Given the description of an element on the screen output the (x, y) to click on. 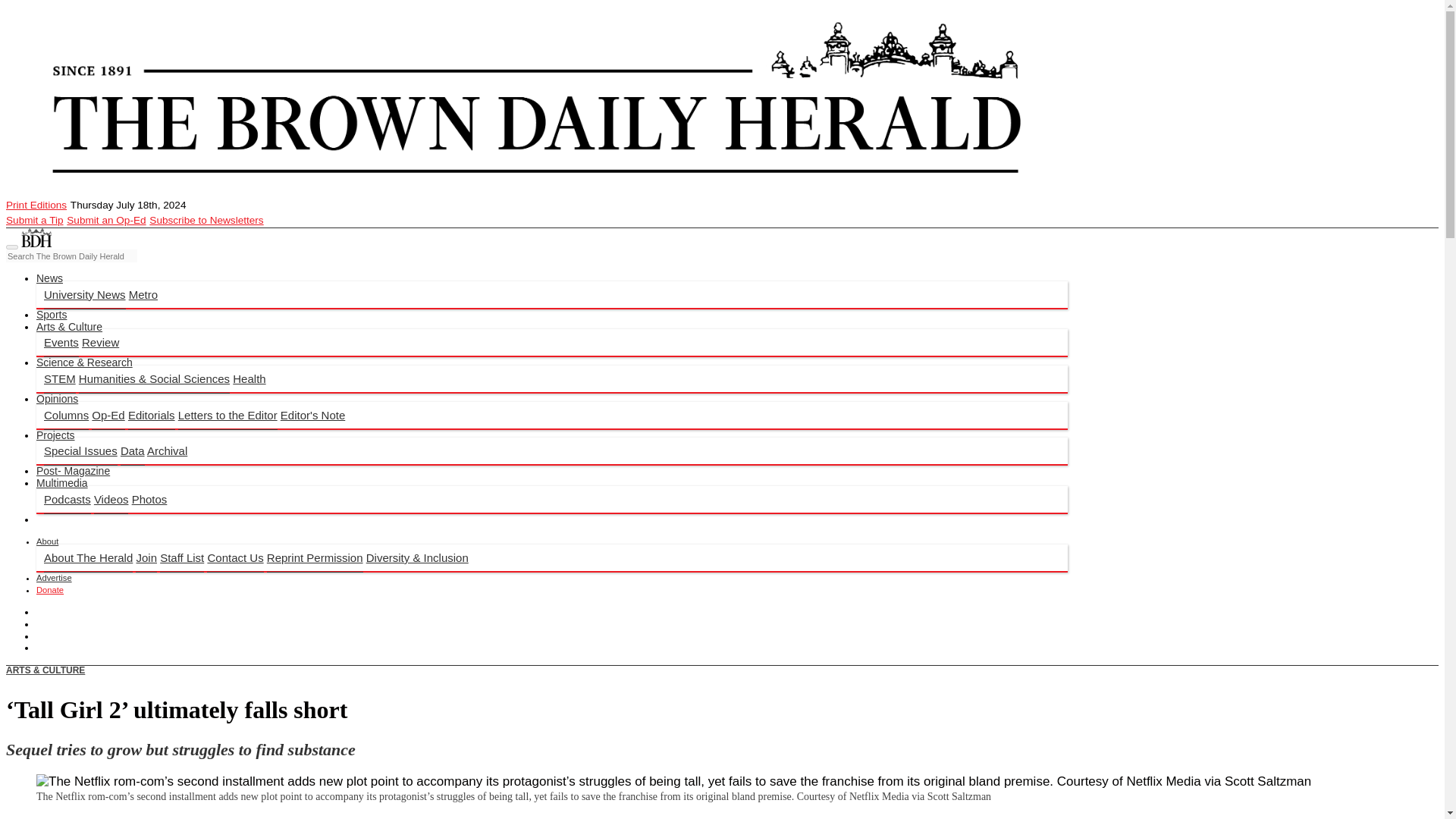
Submit a Tip (34, 220)
Review (100, 342)
Print Editions (35, 204)
Submit an Op-Ed (105, 220)
STEM (59, 378)
News (49, 277)
Health (248, 378)
Sports (51, 314)
Op-Ed (107, 415)
Columns (65, 415)
Letters to the Editor (227, 415)
Events (60, 342)
Post- Magazine (73, 470)
Editor's Note (313, 415)
Editorials (151, 415)
